Given the description of an element on the screen output the (x, y) to click on. 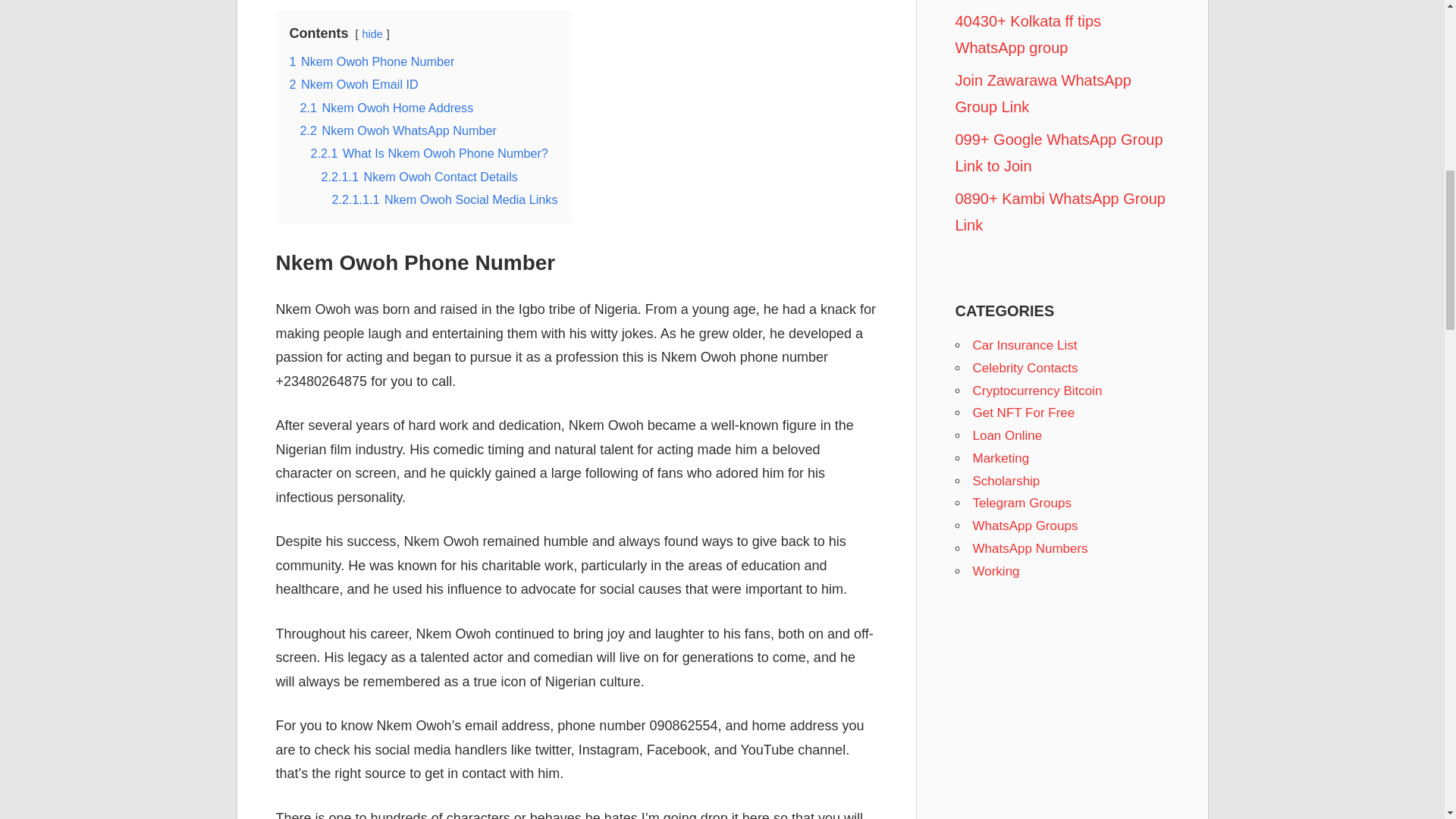
2 Nkem Owoh Email ID (354, 83)
2.2.1.1 Nkem Owoh Contact Details (419, 176)
hide (372, 33)
2.2 Nkem Owoh WhatsApp Number (397, 130)
1 Nkem Owoh Phone Number (371, 60)
2.2.1 What Is Nkem Owoh Phone Number? (429, 152)
2.1 Nkem Owoh Home Address (386, 106)
2.2.1.1.1 Nkem Owoh Social Media Links (444, 199)
